Given the description of an element on the screen output the (x, y) to click on. 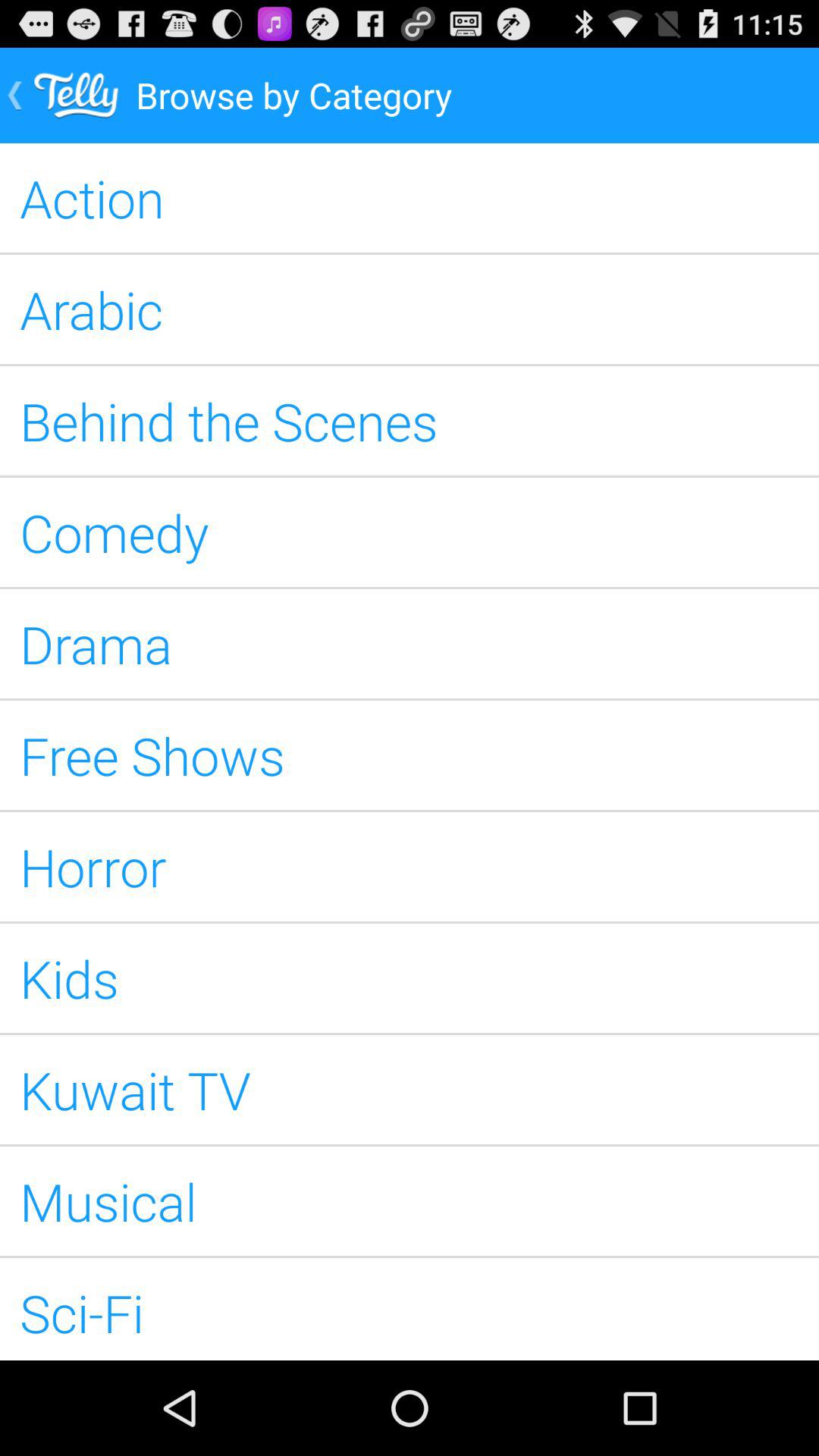
swipe to drama item (409, 643)
